Given the description of an element on the screen output the (x, y) to click on. 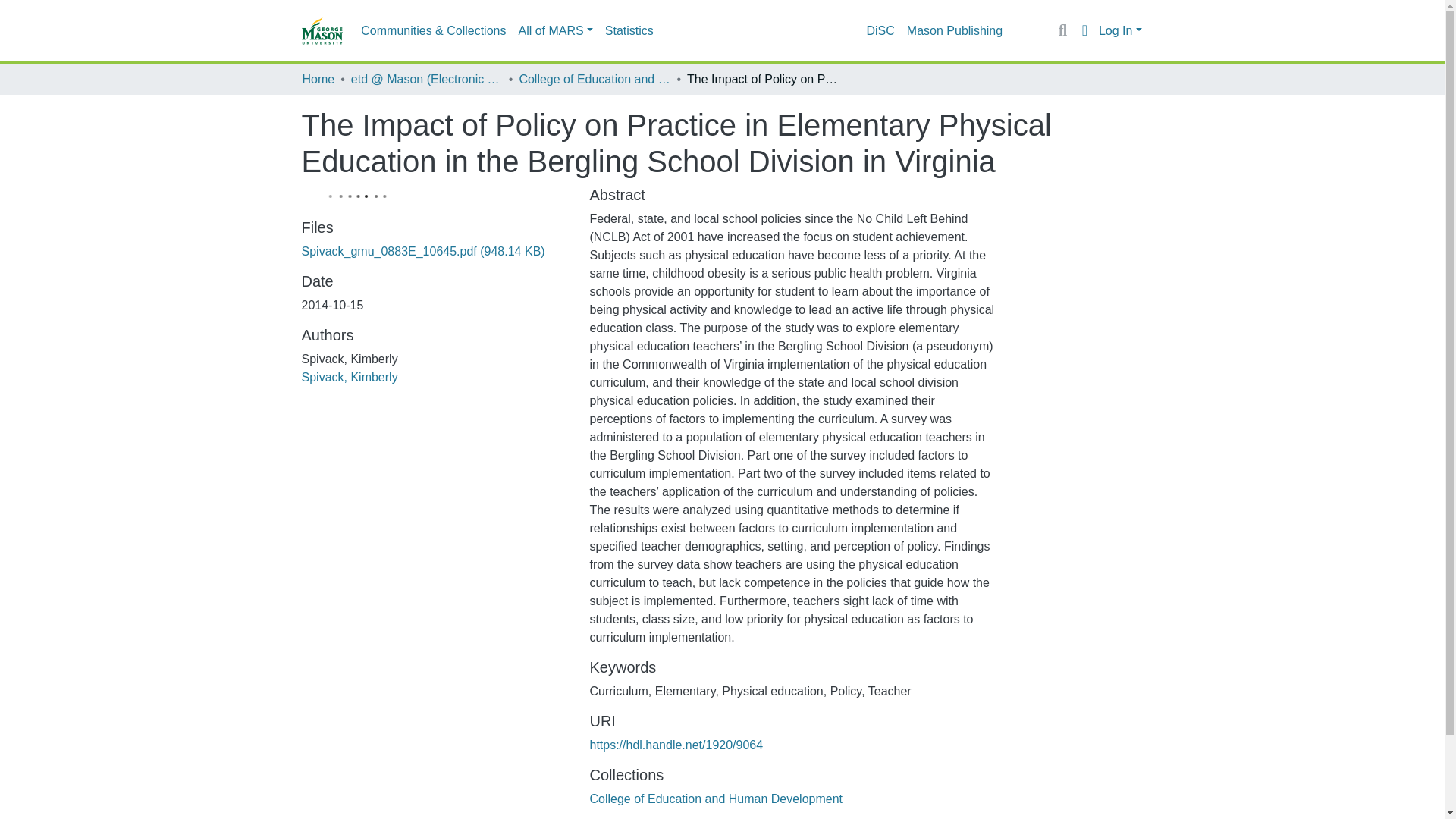
College of Education and Human Development (716, 798)
Statistics (628, 30)
Language switch (1084, 30)
Log In (1119, 30)
Search (1061, 30)
Home (317, 79)
Spivack, Kimberly (349, 377)
College of Education and Human Development (593, 79)
DiSC (879, 30)
All of MARS (555, 30)
